Given the description of an element on the screen output the (x, y) to click on. 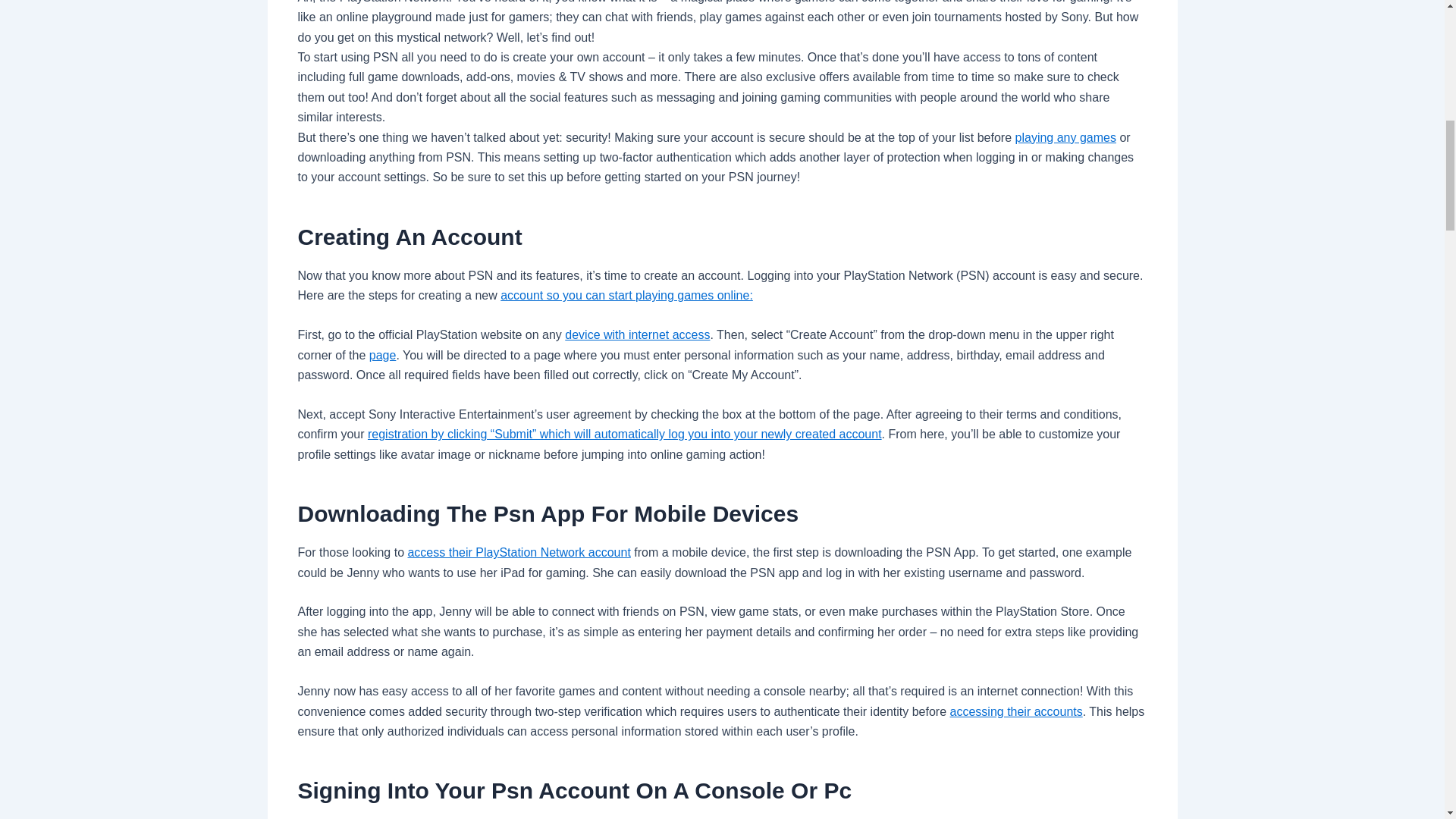
account so you can start playing games online: (626, 295)
access their PlayStation Network account (518, 552)
accessing their accounts (1016, 711)
playing any games (1065, 137)
device with internet access (637, 334)
page (382, 354)
